Given the description of an element on the screen output the (x, y) to click on. 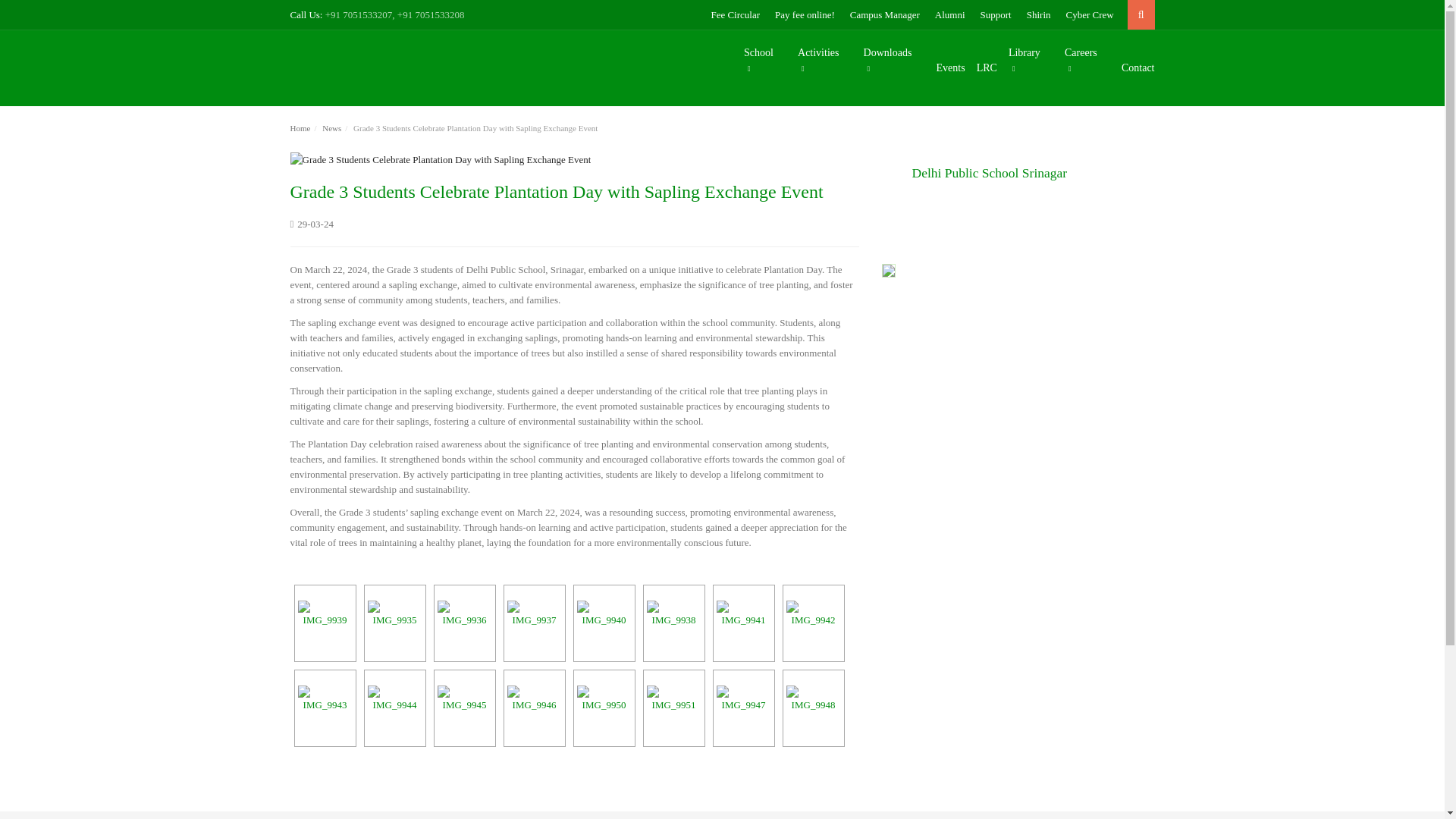
Shirin (1038, 14)
School (759, 60)
Cyber Crew (1089, 14)
Campus Manager (885, 14)
Alumni (949, 14)
Pay fee online! (804, 14)
Campus Manager (885, 14)
Shirin (1038, 14)
Fee Circular (735, 14)
Pay fee online! (804, 14)
Support (995, 14)
Downloads (887, 60)
Activities (818, 60)
Fee Circular (735, 14)
Support (995, 14)
